Given the description of an element on the screen output the (x, y) to click on. 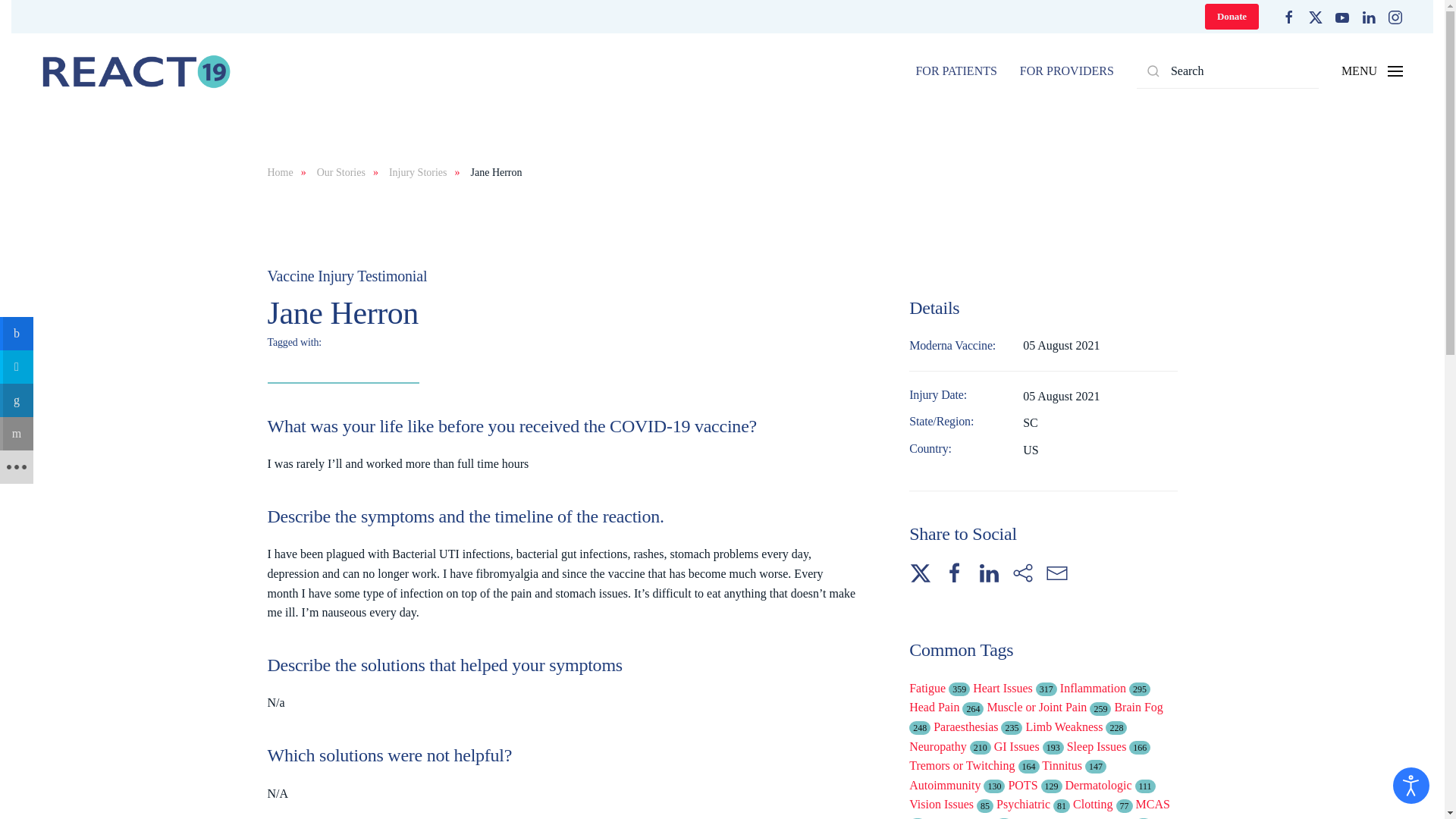
Tagged with:  (561, 342)
Open accessibility tools (1411, 785)
Jane Herron (561, 313)
Share to Social (1042, 534)
Describe the solutions that helped your symptoms (561, 665)
Vaccine Injury Testimonial (561, 275)
Details (1042, 308)
Describe the symptoms and the timeline of the reaction. (561, 516)
Donate (1231, 16)
